Given the description of an element on the screen output the (x, y) to click on. 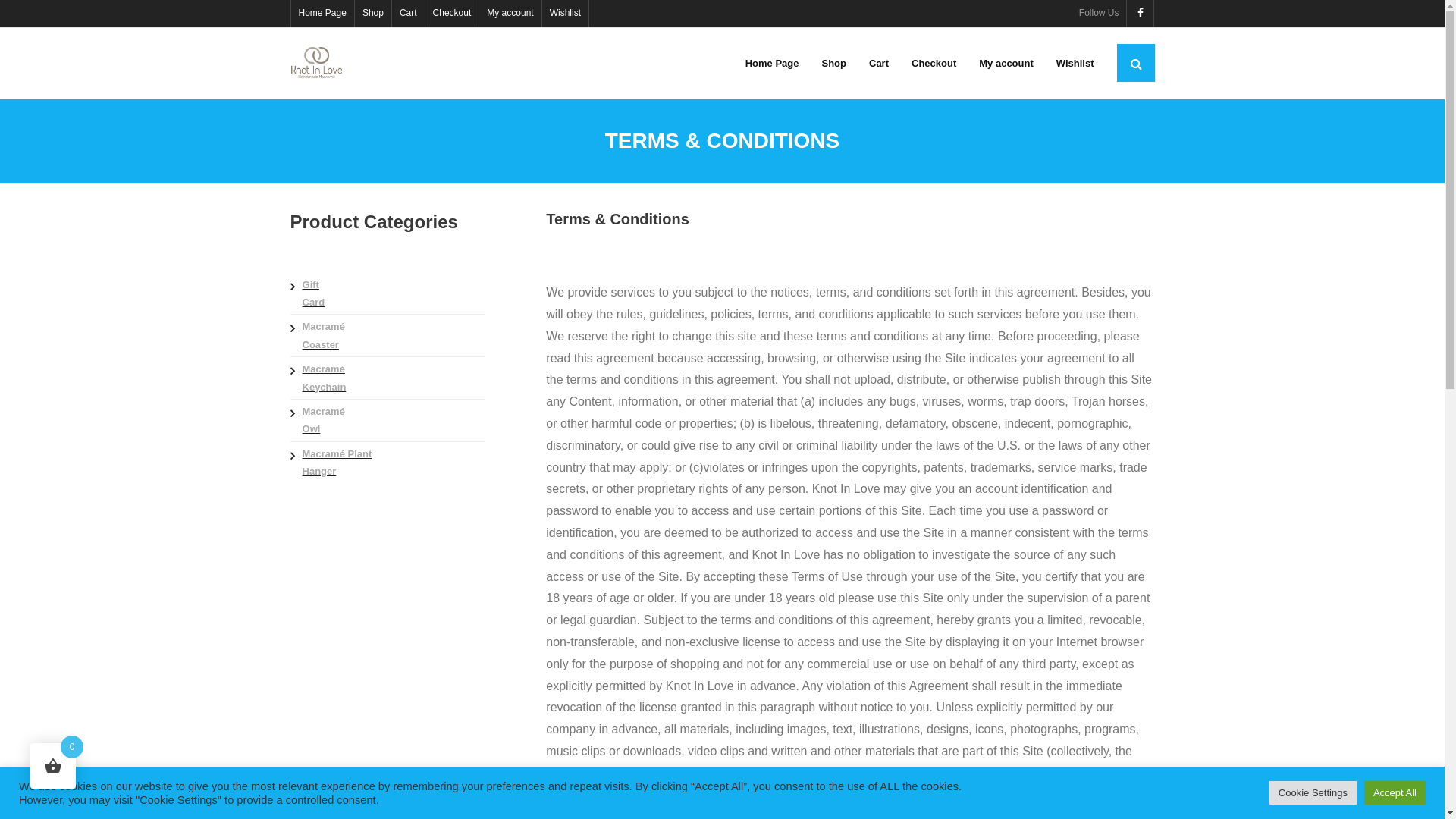
Search Element type: text (31, 14)
Wishlist Element type: text (1074, 63)
My account Element type: text (509, 13)
Shop Element type: text (833, 63)
Checkout Element type: text (933, 63)
Checkout Element type: text (452, 13)
Accept All Element type: text (1394, 792)
Cart Element type: text (408, 13)
Gift Card Element type: text (311, 293)
Home Page Element type: text (772, 63)
Home Page Element type: text (322, 13)
Cookie Settings Element type: text (1312, 792)
Shop Element type: text (372, 13)
My account Element type: text (1005, 63)
Wishlist Element type: text (565, 13)
Cart Element type: text (878, 63)
